Given the description of an element on the screen output the (x, y) to click on. 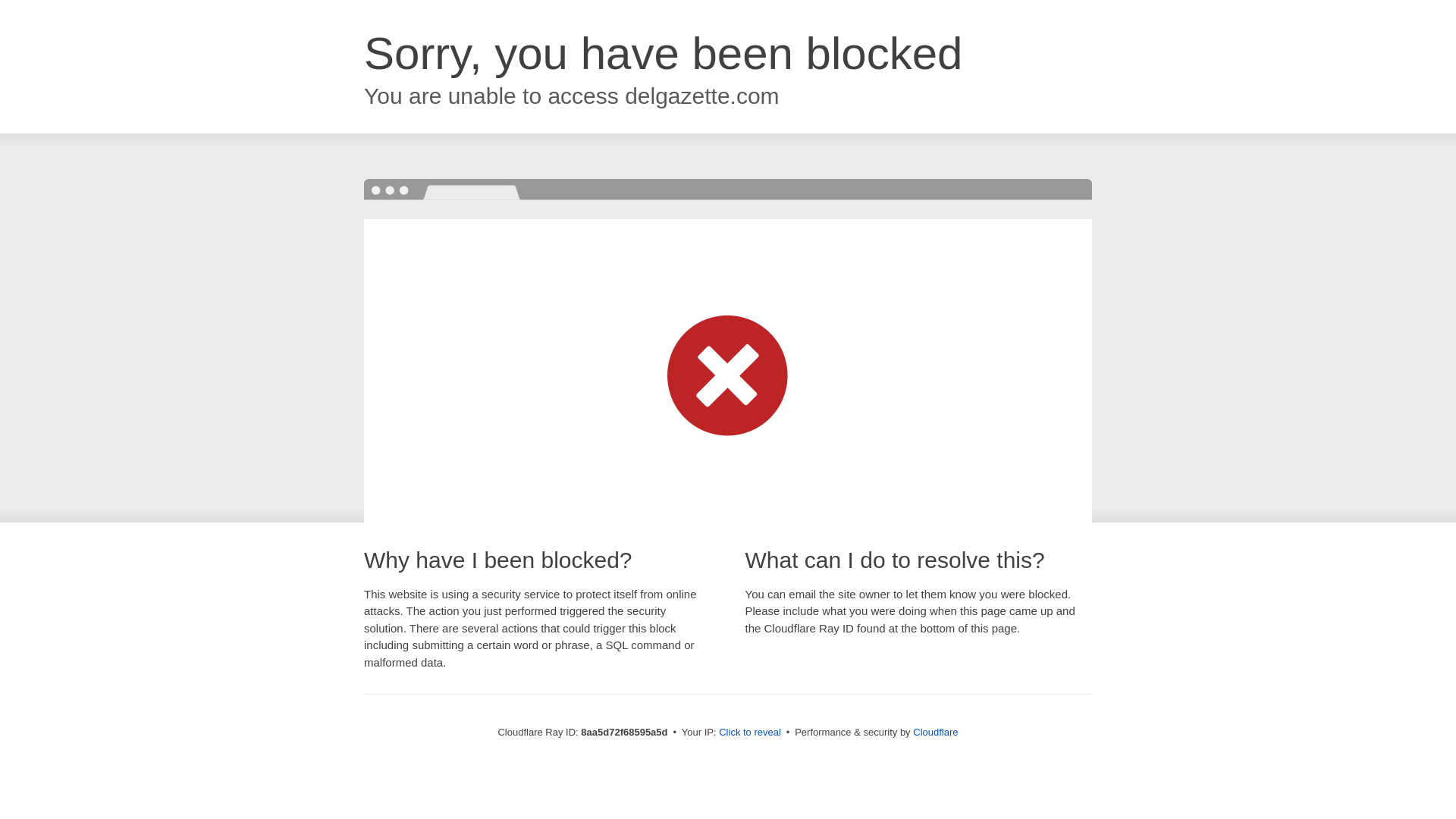
Click to reveal (749, 732)
Cloudflare (935, 731)
